Given the description of an element on the screen output the (x, y) to click on. 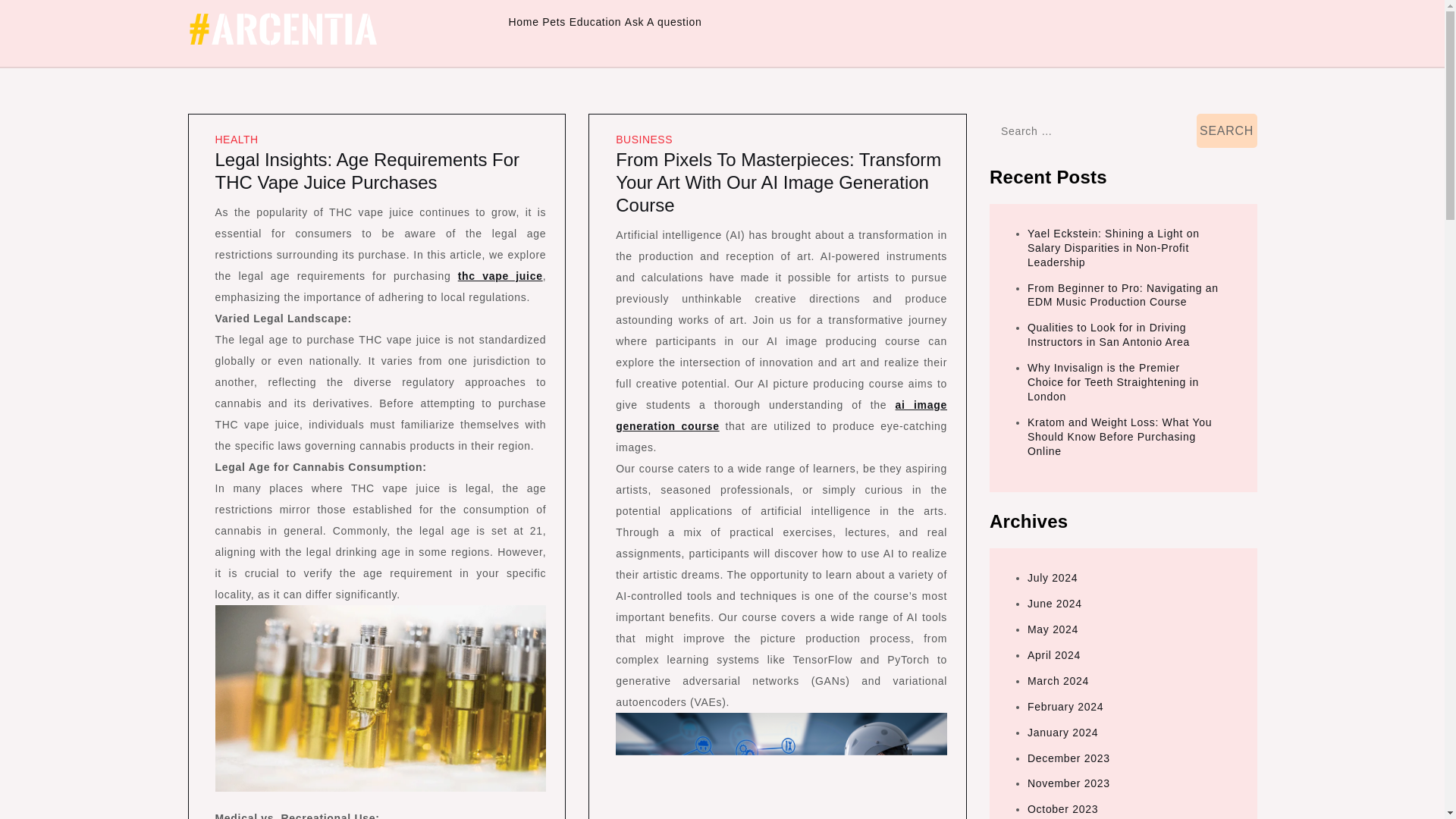
Search (1226, 130)
Search (1226, 130)
April 2024 (1053, 654)
February 2024 (1065, 706)
Search (1226, 130)
June 2024 (1054, 603)
Ask A question (662, 21)
January 2024 (1062, 732)
thc vape juice (500, 275)
Home (523, 21)
March 2024 (1058, 680)
May 2024 (1052, 629)
BUSINESS (643, 139)
